Given the description of an element on the screen output the (x, y) to click on. 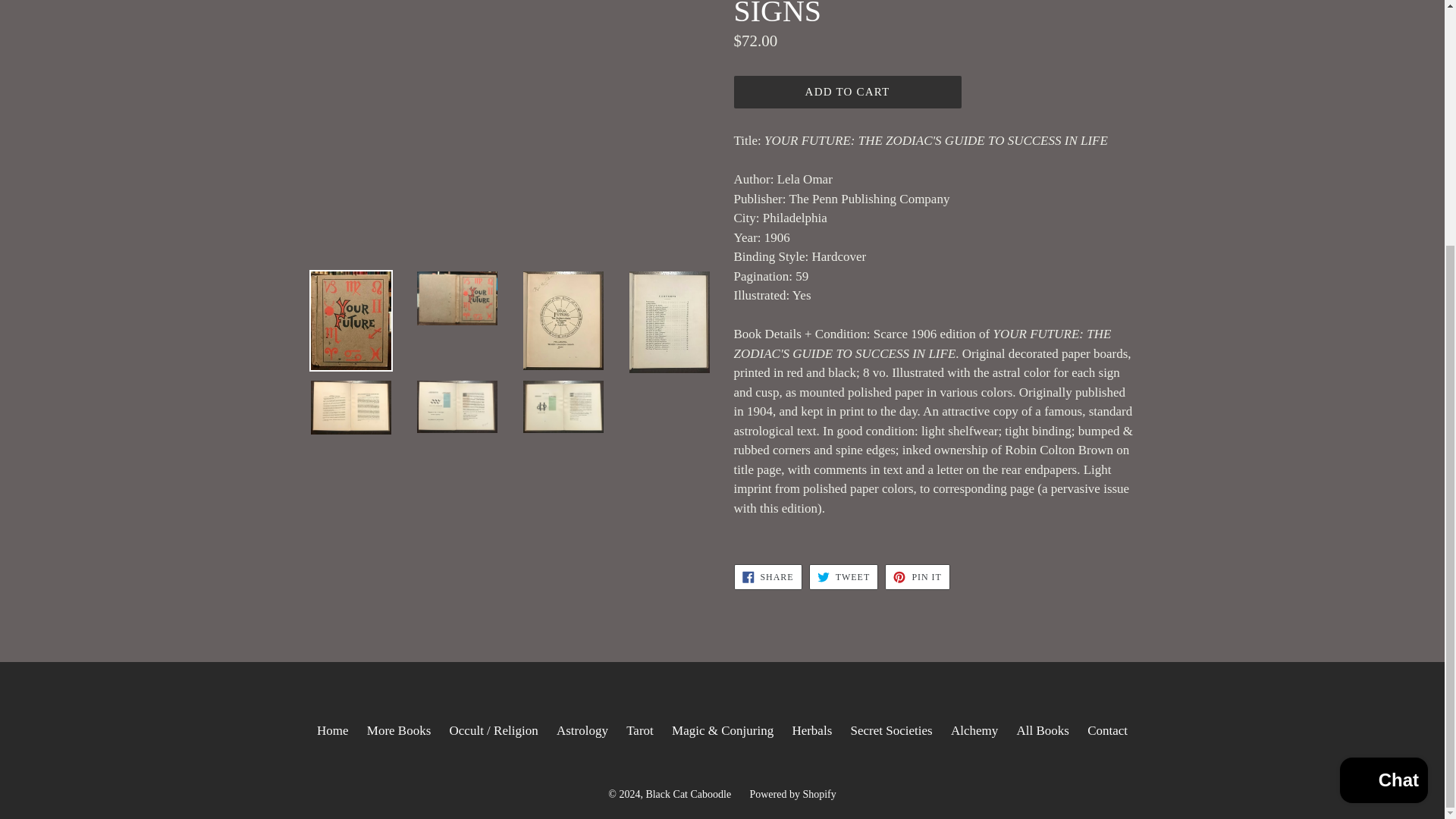
Pin on Pinterest (917, 576)
Share on Facebook (767, 576)
Tweet on Twitter (843, 576)
Shopify online store chat (1383, 441)
